Given the description of an element on the screen output the (x, y) to click on. 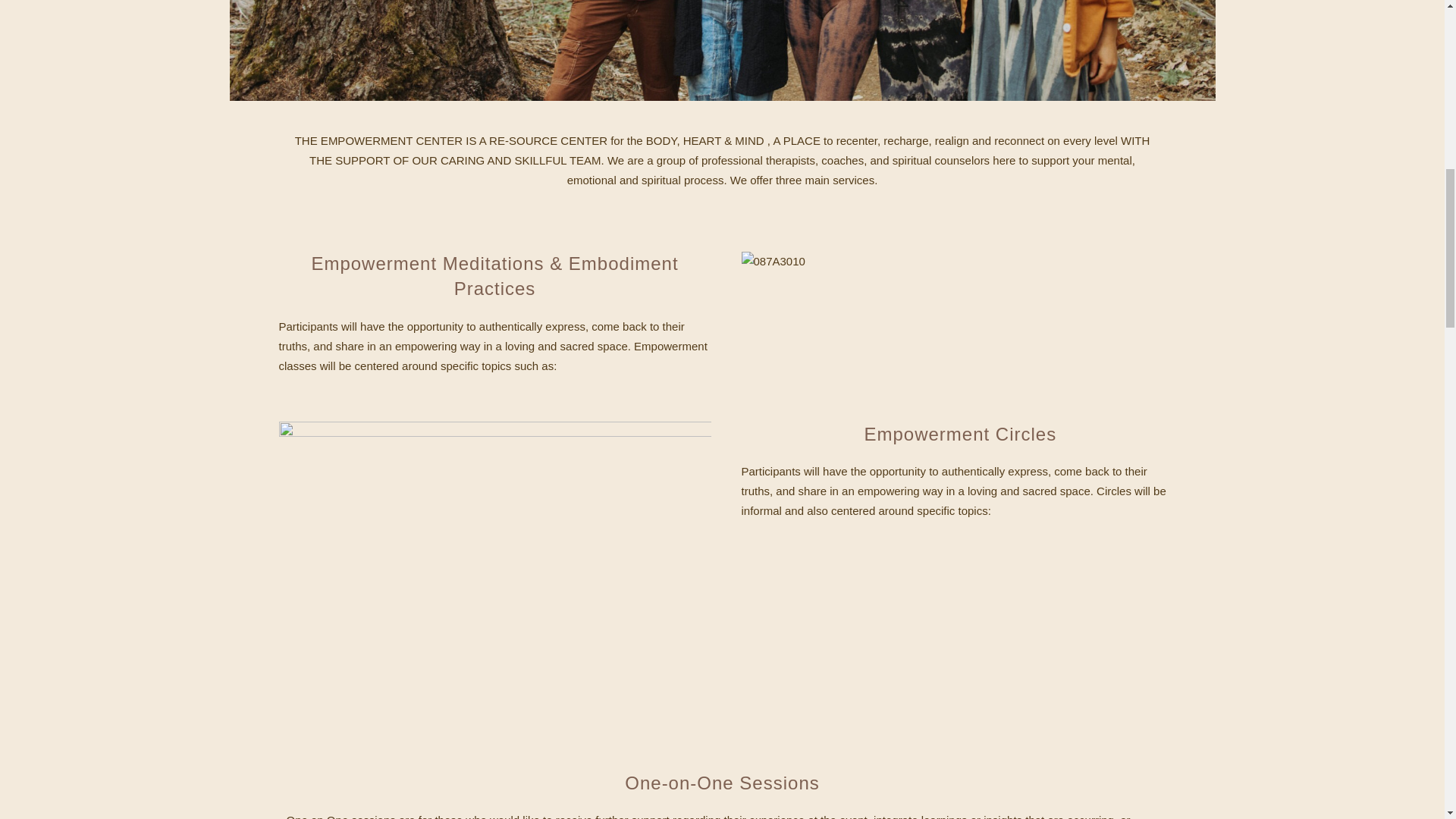
087A3742 (721, 50)
Page 1 (722, 160)
087A3010 (773, 261)
Page 1 (495, 275)
Page 1 (957, 490)
